Given the description of an element on the screen output the (x, y) to click on. 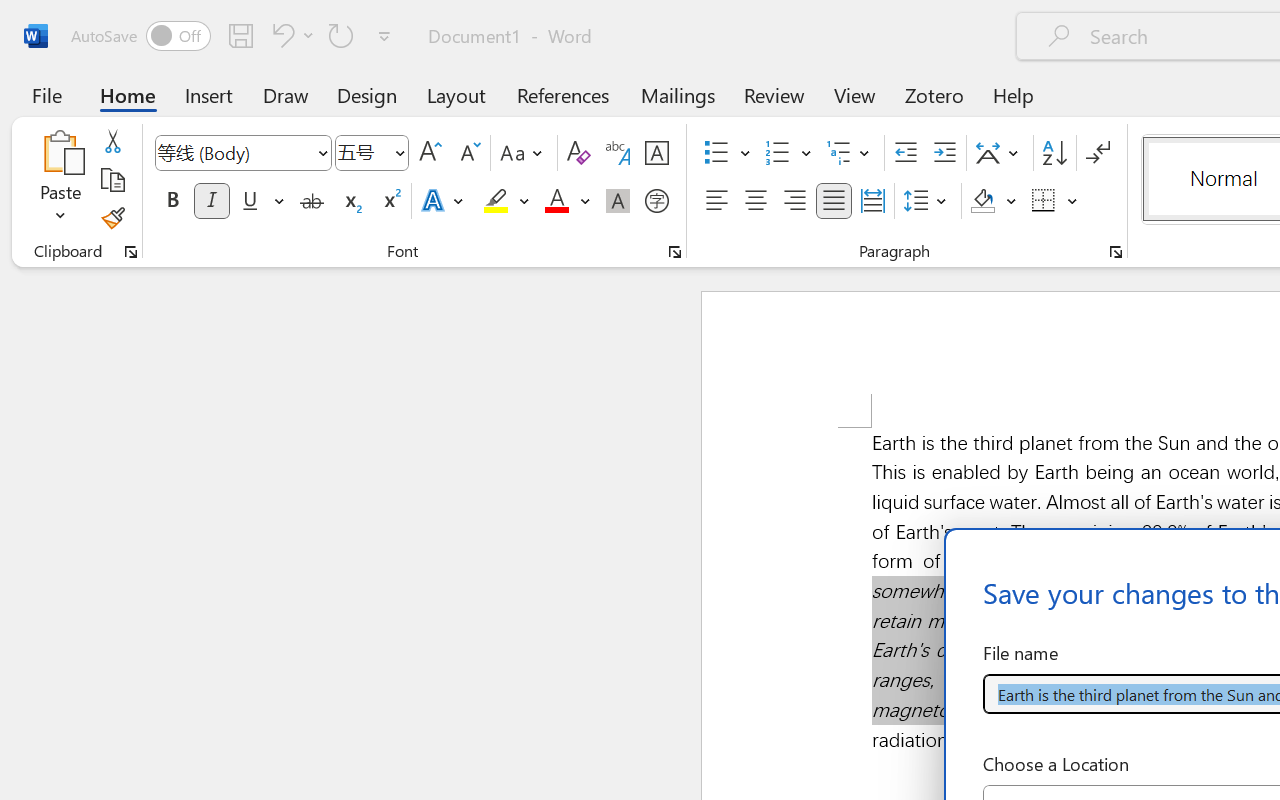
Text Highlight Color (506, 201)
Office Clipboard... (131, 252)
Align Left (716, 201)
Clear Formatting (578, 153)
Enclose Characters... (656, 201)
Superscript (390, 201)
Text Highlight Color Yellow (495, 201)
